Given the description of an element on the screen output the (x, y) to click on. 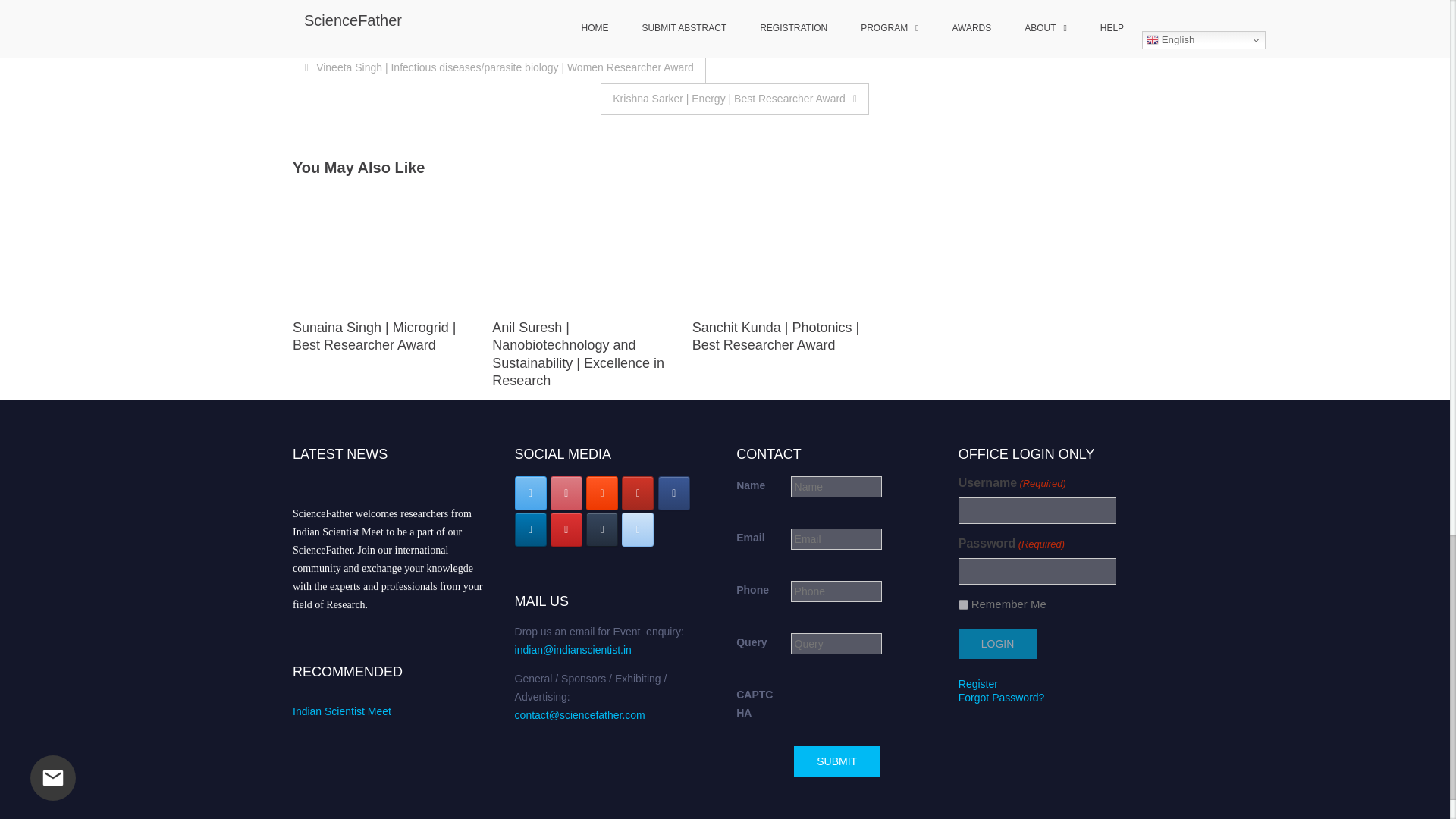
1 (963, 604)
Login (997, 643)
Submit (836, 761)
